Given the description of an element on the screen output the (x, y) to click on. 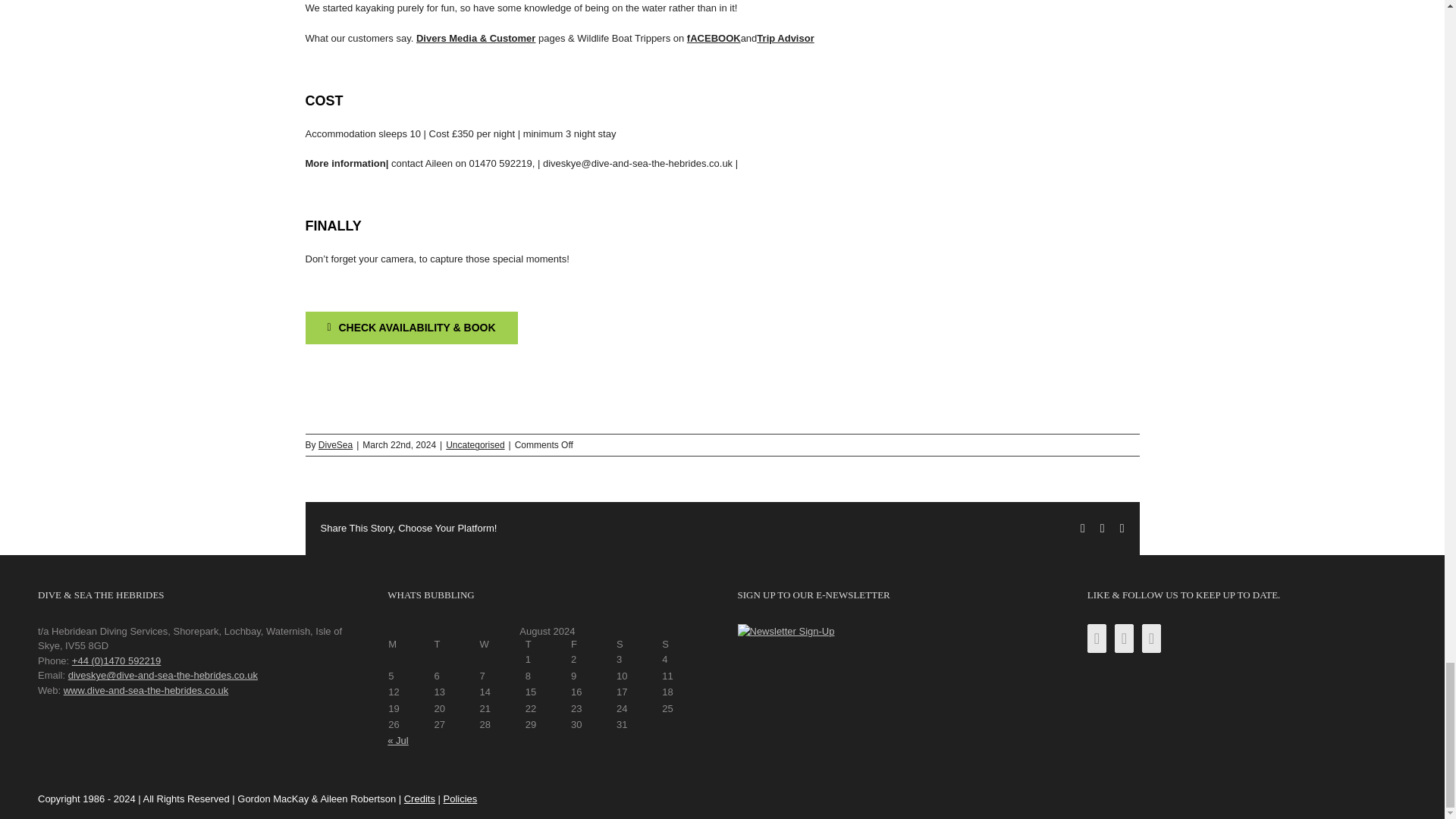
Tuesday (455, 644)
Monday (409, 644)
Wednesday (501, 644)
Thursday (547, 644)
Posts by DiveSea (335, 444)
